Given the description of an element on the screen output the (x, y) to click on. 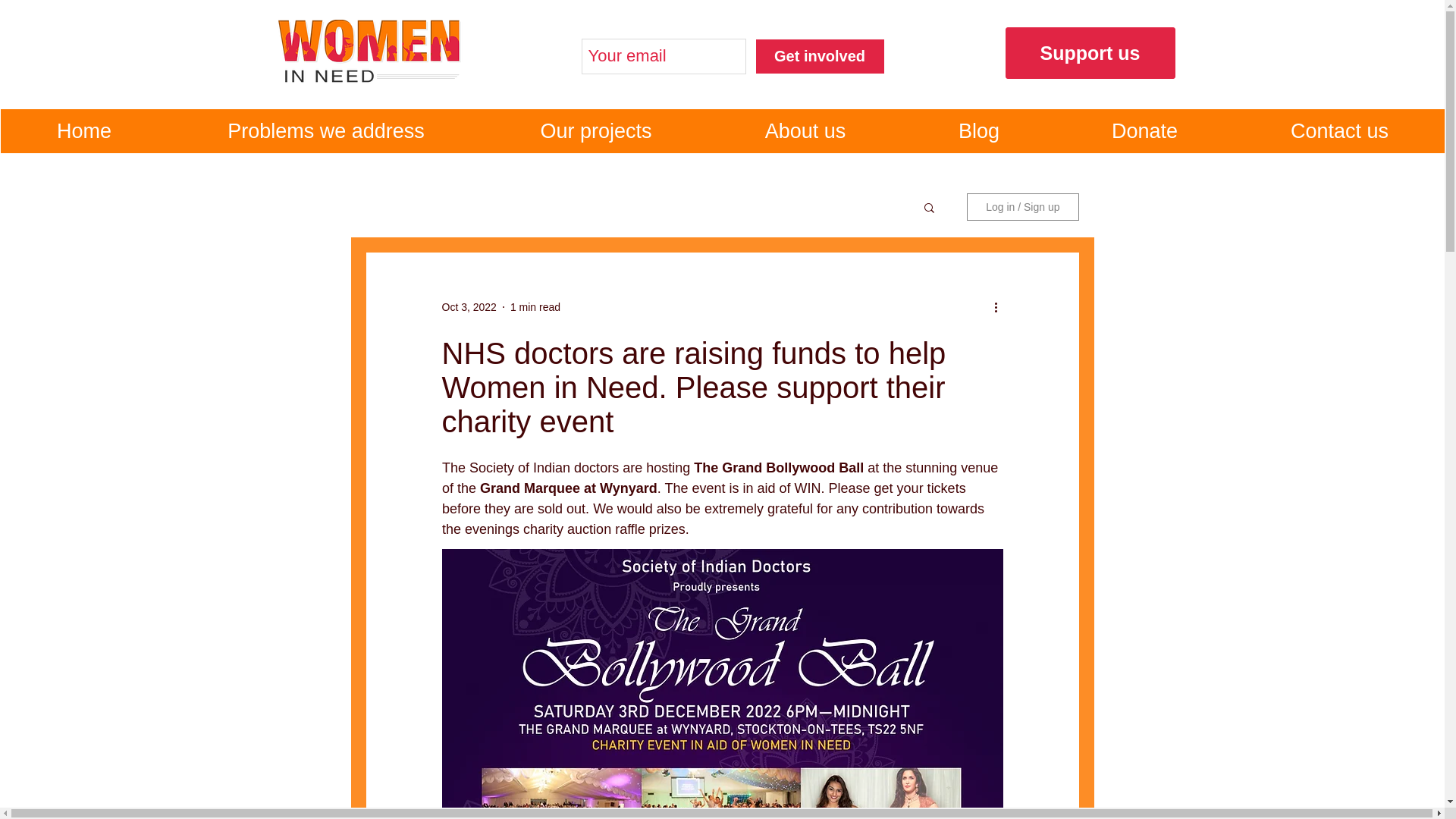
About us (804, 130)
Problems we address (325, 130)
Oct 3, 2022 (468, 306)
Support us (1090, 52)
1 min read (535, 306)
Contact us (1338, 130)
Blog (978, 130)
Home (83, 130)
Donate (1144, 130)
Get involved (820, 56)
